Given the description of an element on the screen output the (x, y) to click on. 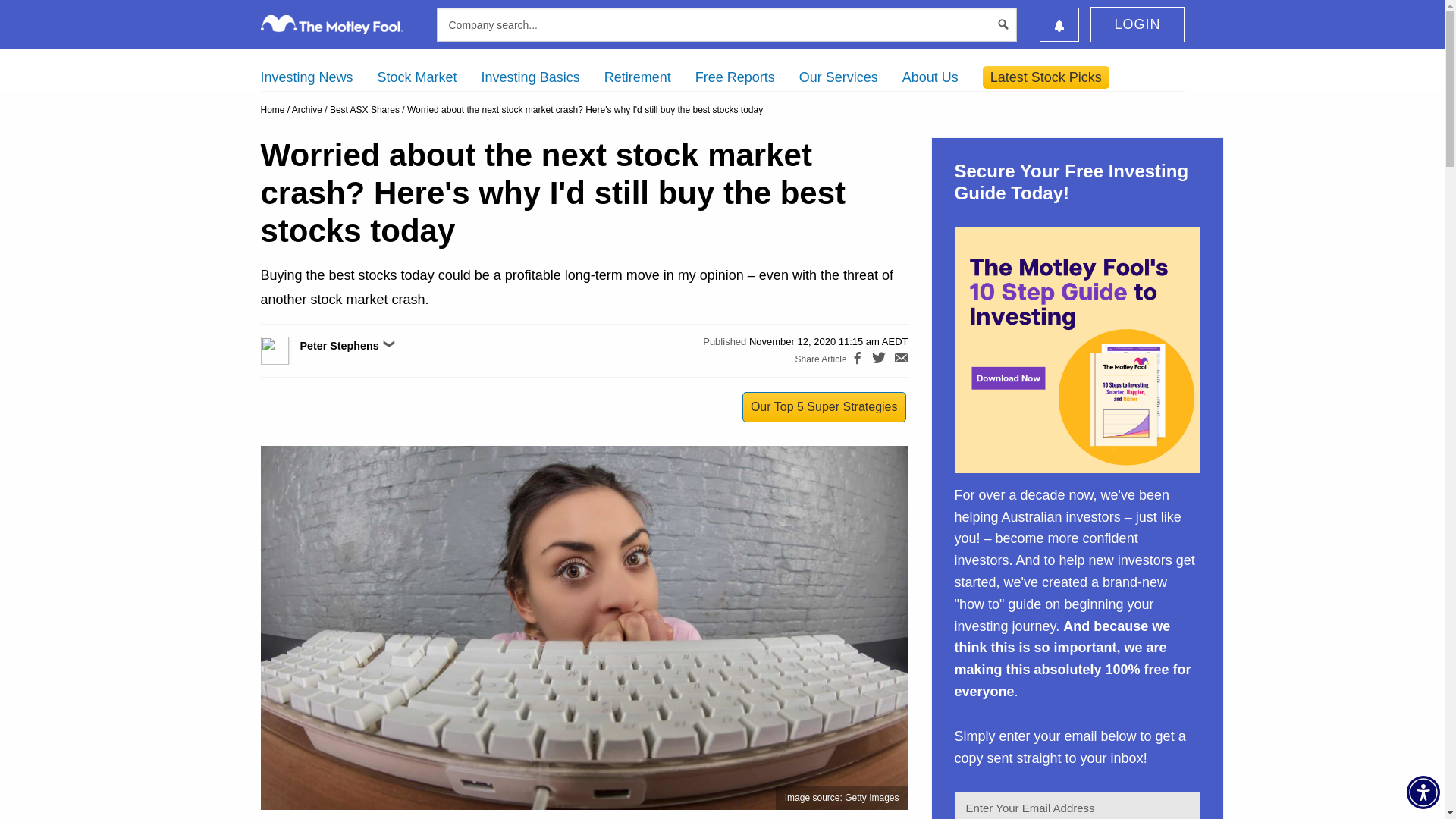
LOGIN (1136, 24)
Investing News (306, 78)
Peter Stephens (290, 350)
Accessibility Menu (1422, 792)
